Given the description of an element on the screen output the (x, y) to click on. 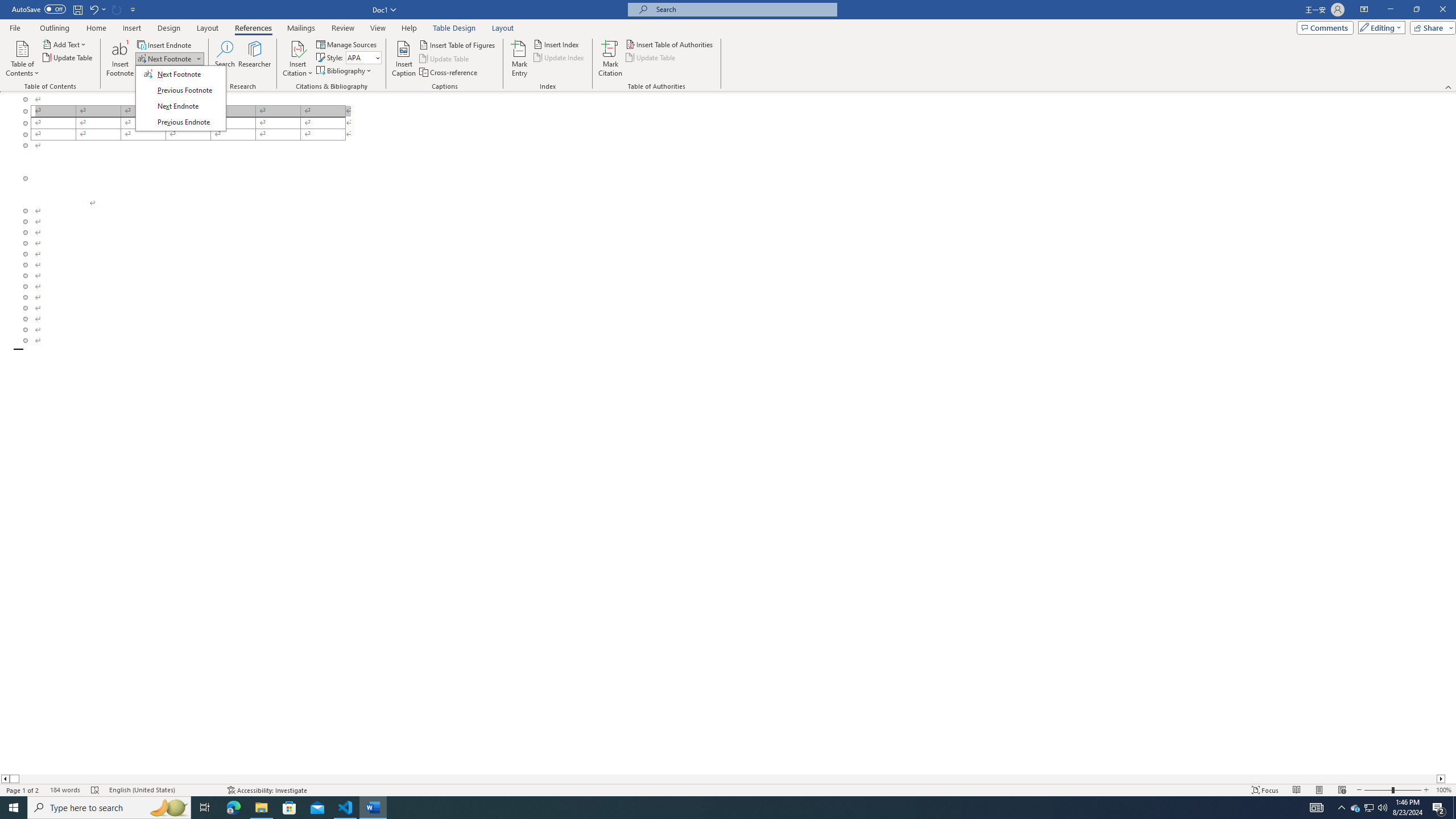
Researcher (254, 58)
Mark Entry... (519, 58)
Type here to search (108, 807)
Style (360, 57)
File Explorer - 1 running window (261, 807)
Page Number Page 1 of 2 (22, 790)
Update Table (651, 56)
Search highlights icon opens search home window (167, 807)
Update Index (559, 56)
Style (363, 56)
